Given the description of an element on the screen output the (x, y) to click on. 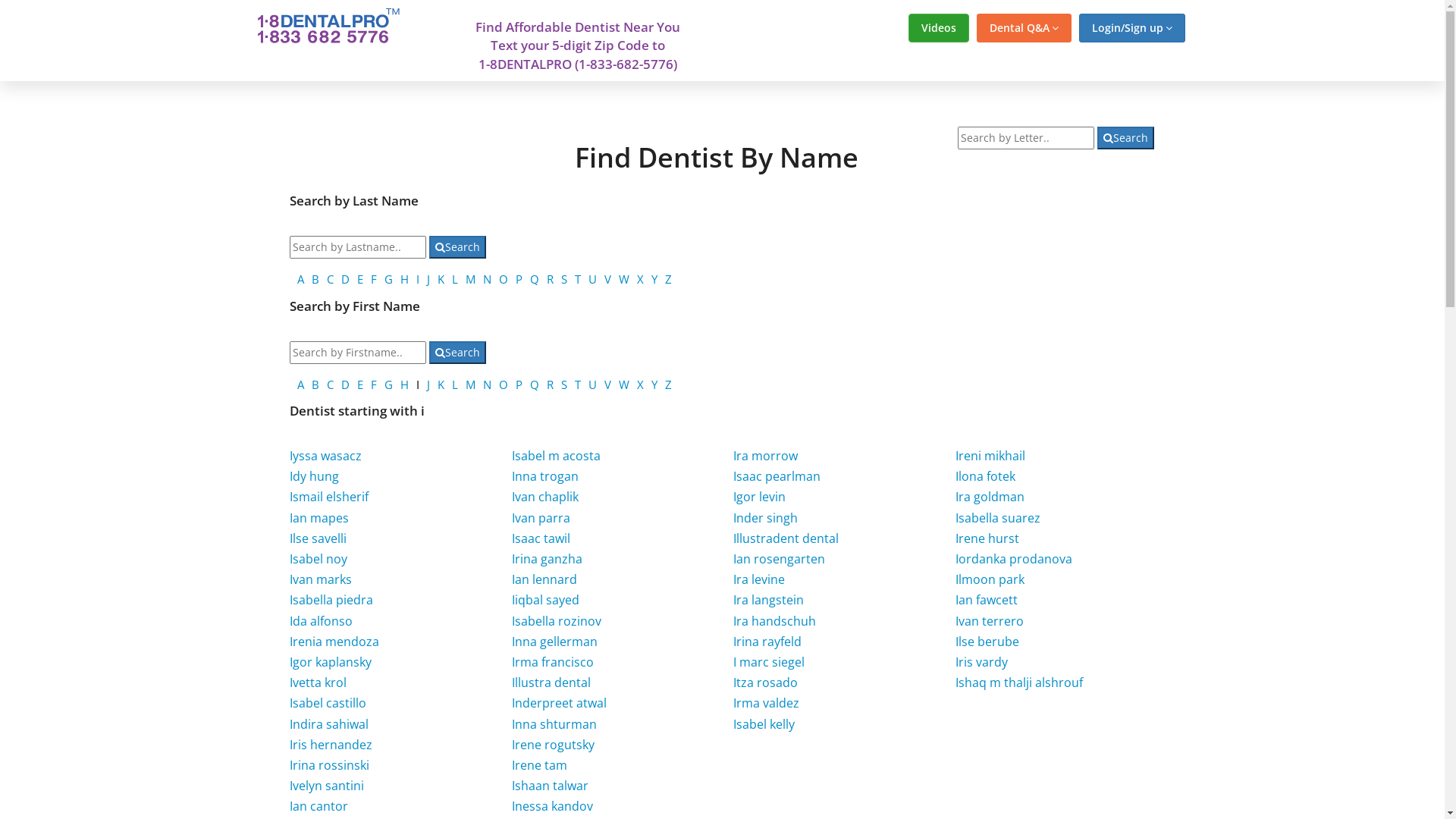
V Element type: text (607, 278)
Idy hung Element type: text (313, 475)
Ian rosengarten Element type: text (779, 558)
Illustradent dental Element type: text (785, 538)
Inna trogan Element type: text (544, 475)
W Element type: text (623, 278)
R Element type: text (549, 384)
G Element type: text (388, 278)
D Element type: text (345, 278)
Iiqbal sayed Element type: text (545, 599)
Ivan terrero Element type: text (989, 620)
Ishaan talwar Element type: text (549, 785)
S Element type: text (564, 384)
H Element type: text (404, 278)
Inder singh Element type: text (765, 517)
H Element type: text (404, 384)
Irma valdez Element type: text (766, 702)
B Element type: text (315, 384)
Isabel noy Element type: text (318, 558)
Irene tam Element type: text (539, 764)
B Element type: text (315, 278)
Search Element type: text (457, 246)
J Element type: text (427, 278)
Ilse berube Element type: text (987, 641)
Inessa kandov Element type: text (552, 805)
T Element type: text (577, 384)
S Element type: text (564, 278)
Ivan marks Element type: text (320, 579)
Y Element type: text (654, 278)
A Element type: text (300, 278)
X Element type: text (640, 384)
L Element type: text (454, 278)
Isabel kelly Element type: text (763, 723)
E Element type: text (360, 384)
K Element type: text (440, 278)
A Element type: text (300, 384)
W Element type: text (623, 384)
I marc siegel Element type: text (768, 661)
T Element type: text (577, 278)
Ivan chaplik Element type: text (544, 496)
Videos Element type: text (938, 27)
Irma francisco Element type: text (552, 661)
Iris hernandez Element type: text (330, 744)
N Element type: text (487, 384)
M Element type: text (470, 384)
Ilona fotek Element type: text (985, 475)
Ismail elsherif Element type: text (328, 496)
F Element type: text (373, 384)
L Element type: text (454, 384)
Isaac pearlman Element type: text (776, 475)
I Element type: text (417, 278)
O Element type: text (503, 384)
Igor kaplansky Element type: text (330, 661)
Isabella suarez Element type: text (997, 517)
Z Element type: text (668, 278)
D Element type: text (345, 384)
Ilmoon park Element type: text (989, 579)
Y Element type: text (654, 384)
G Element type: text (388, 384)
R Element type: text (549, 278)
Irina rayfeld Element type: text (767, 641)
C Element type: text (329, 278)
Irina ganzha Element type: text (546, 558)
Irina rossinski Element type: text (329, 764)
Isabella rozinov Element type: text (556, 620)
Q Element type: text (534, 278)
K Element type: text (440, 384)
U Element type: text (592, 278)
Isaac tawil Element type: text (540, 538)
Igor levin Element type: text (759, 496)
Ida alfonso Element type: text (320, 620)
Search Element type: text (1125, 137)
X Element type: text (640, 278)
P Element type: text (518, 278)
Isabel m acosta Element type: text (555, 455)
Ira levine Element type: text (758, 579)
Ian lennard Element type: text (544, 579)
Ian cantor Element type: text (318, 805)
Ira morrow Element type: text (765, 455)
Ira langstein Element type: text (768, 599)
Ishaq m thalji alshrouf Element type: text (1018, 682)
Ilse savelli Element type: text (317, 538)
Ian fawcett Element type: text (986, 599)
Z Element type: text (668, 384)
Irene hurst Element type: text (987, 538)
O Element type: text (503, 278)
Login/Sign up Element type: text (1131, 27)
Isabella piedra Element type: text (331, 599)
U Element type: text (592, 384)
P Element type: text (518, 384)
Ireni mikhail Element type: text (990, 455)
Ivelyn santini Element type: text (326, 785)
Irene rogutsky Element type: text (552, 744)
Iyssa wasacz Element type: text (325, 455)
Iordanka prodanova Element type: text (1013, 558)
Q Element type: text (534, 384)
E Element type: text (360, 278)
Indira sahiwal Element type: text (328, 723)
C Element type: text (329, 384)
Search Element type: text (457, 352)
Iris vardy Element type: text (981, 661)
Ira handschuh Element type: text (774, 620)
V Element type: text (607, 384)
N Element type: text (487, 278)
Dental Q&A Element type: text (1023, 27)
F Element type: text (373, 278)
Irenia mendoza Element type: text (334, 641)
Ivan parra Element type: text (540, 517)
Inna gellerman Element type: text (554, 641)
Isabel castillo Element type: text (327, 702)
Ira goldman Element type: text (989, 496)
J Element type: text (427, 384)
Illustra dental Element type: text (550, 682)
M Element type: text (470, 278)
Inderpreet atwal Element type: text (558, 702)
Ian mapes Element type: text (318, 517)
Inna shturman Element type: text (553, 723)
Itza rosado Element type: text (765, 682)
Ivetta krol Element type: text (317, 682)
